Given the description of an element on the screen output the (x, y) to click on. 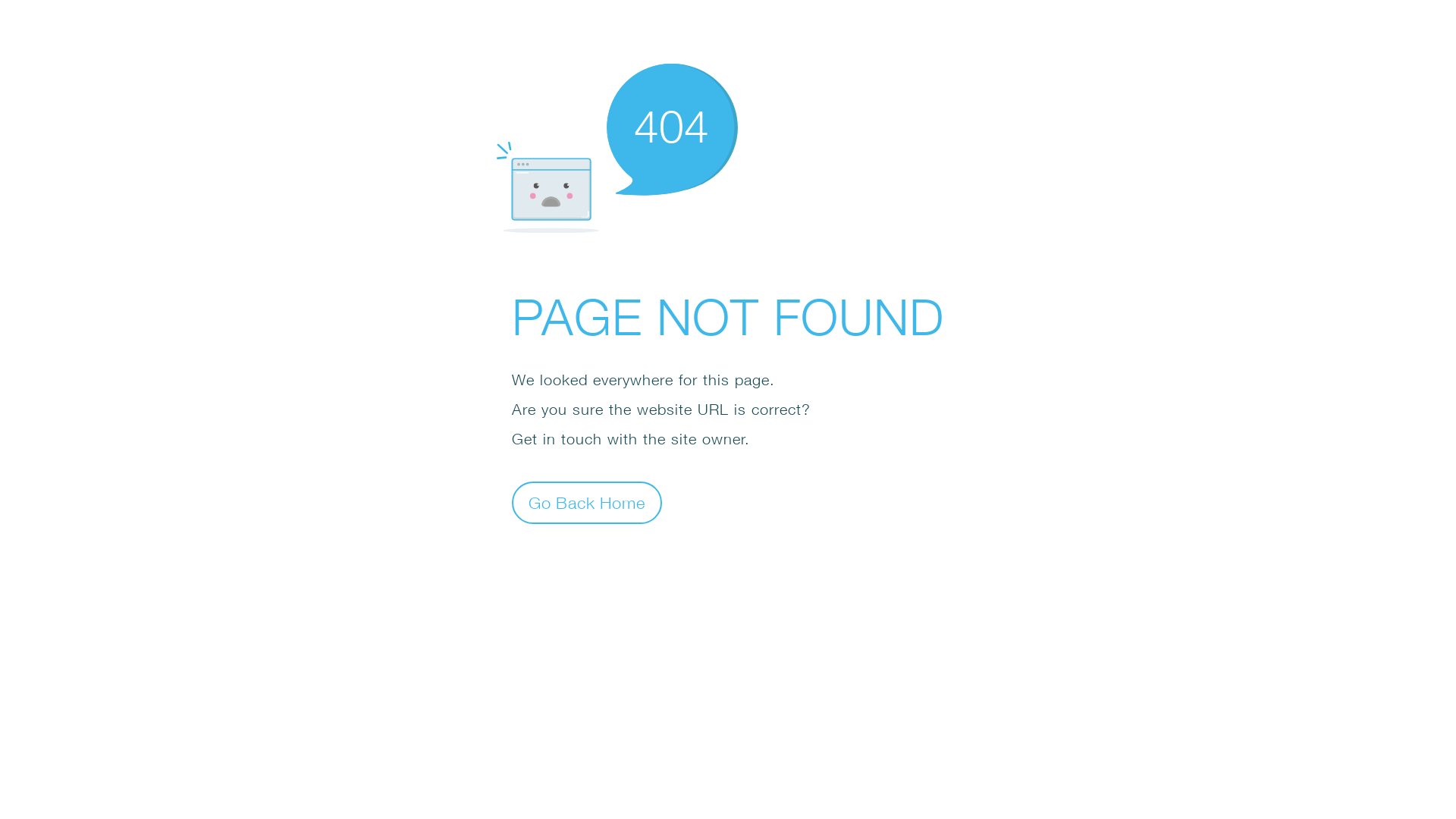
Go Back Home Element type: text (586, 502)
